Given the description of an element on the screen output the (x, y) to click on. 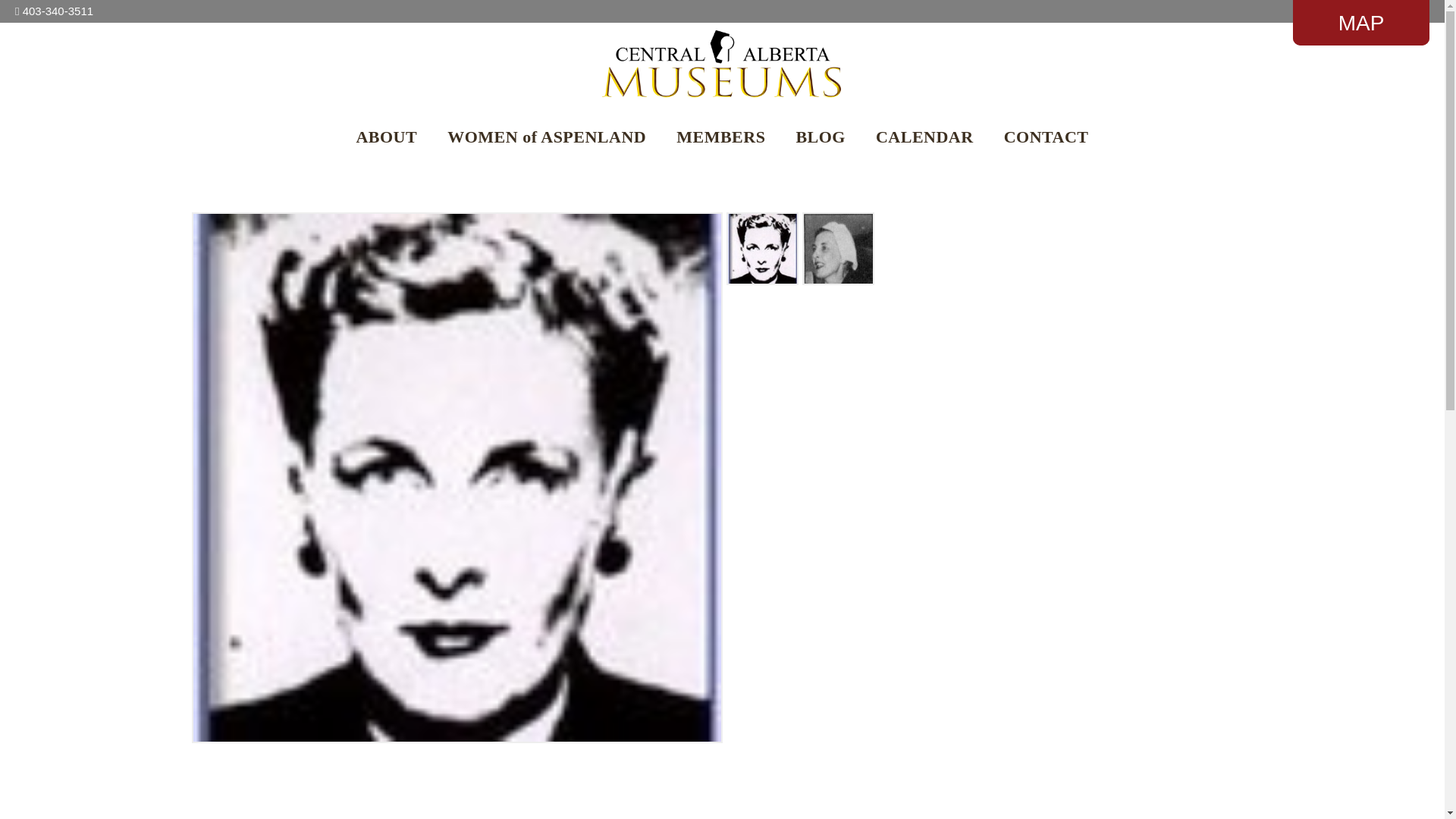
Contact (1361, 23)
ABOUT (385, 136)
BLOG (819, 136)
WOMEN of ASPENLAND (546, 136)
CONTACT (1046, 136)
MEMBERS (721, 136)
CALENDAR (925, 136)
